Given the description of an element on the screen output the (x, y) to click on. 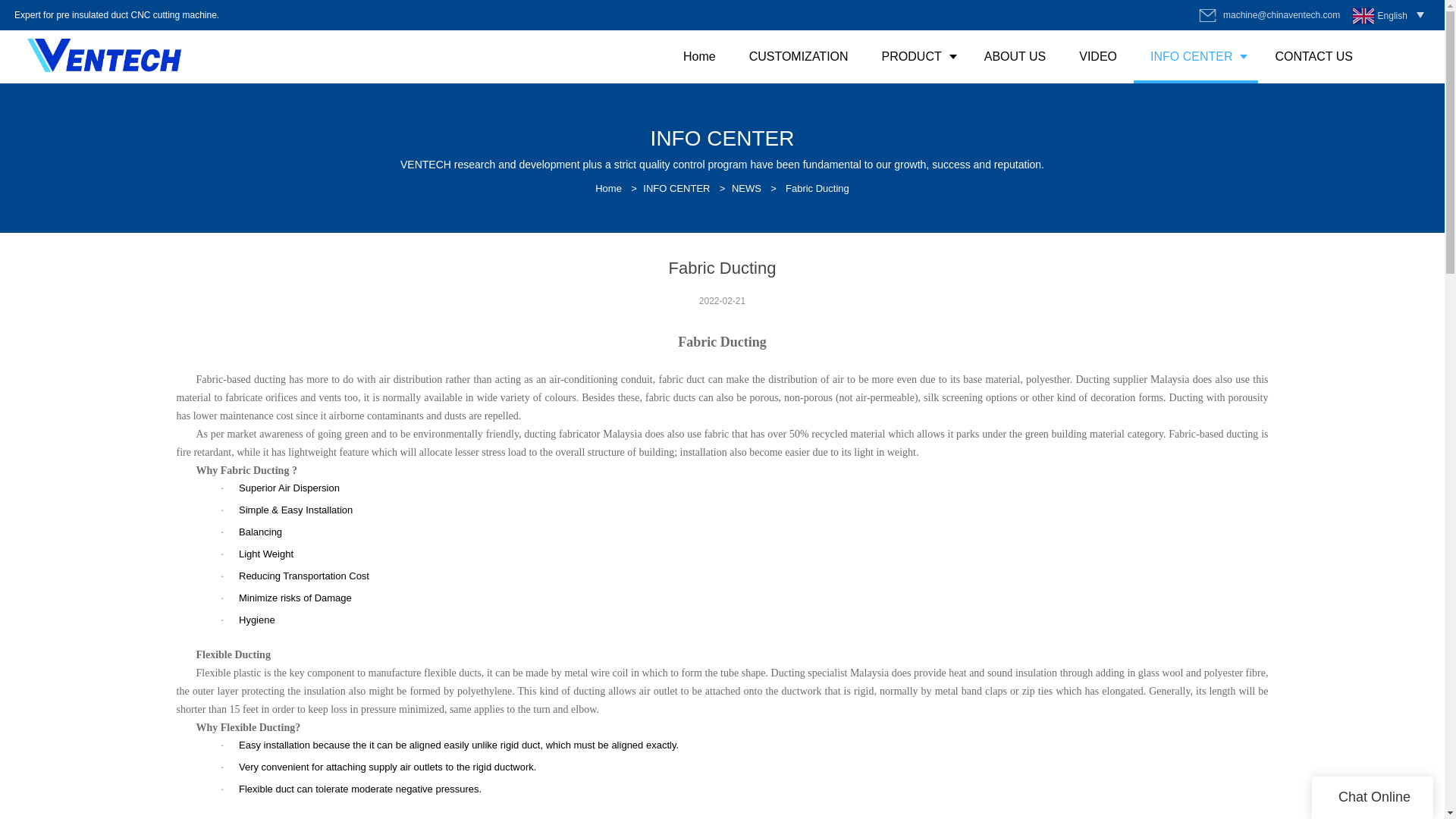
NEWS (746, 188)
ABOUT US (1015, 56)
INFO CENTER (676, 188)
Home (608, 188)
Home (699, 56)
PRODUCT (916, 56)
INFO CENTER (1195, 56)
VIDEO (1098, 56)
CUSTOMIZATION (798, 56)
CONTACT US (1313, 56)
